Given the description of an element on the screen output the (x, y) to click on. 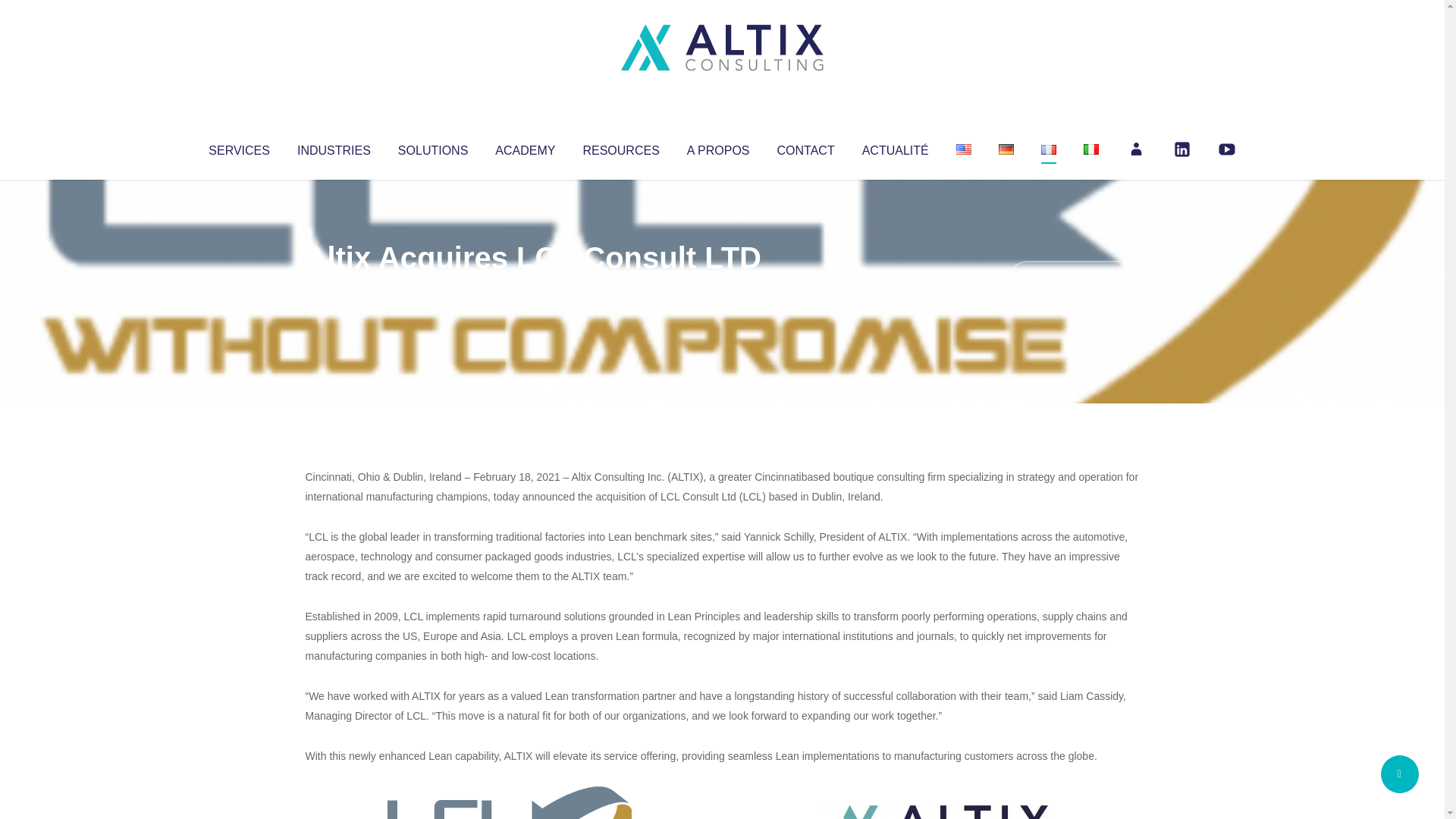
Articles par Altix (333, 287)
SERVICES (238, 146)
Uncategorized (530, 287)
ACADEMY (524, 146)
SOLUTIONS (432, 146)
A PROPOS (718, 146)
Altix (333, 287)
RESOURCES (620, 146)
No Comments (1073, 278)
INDUSTRIES (334, 146)
